Given the description of an element on the screen output the (x, y) to click on. 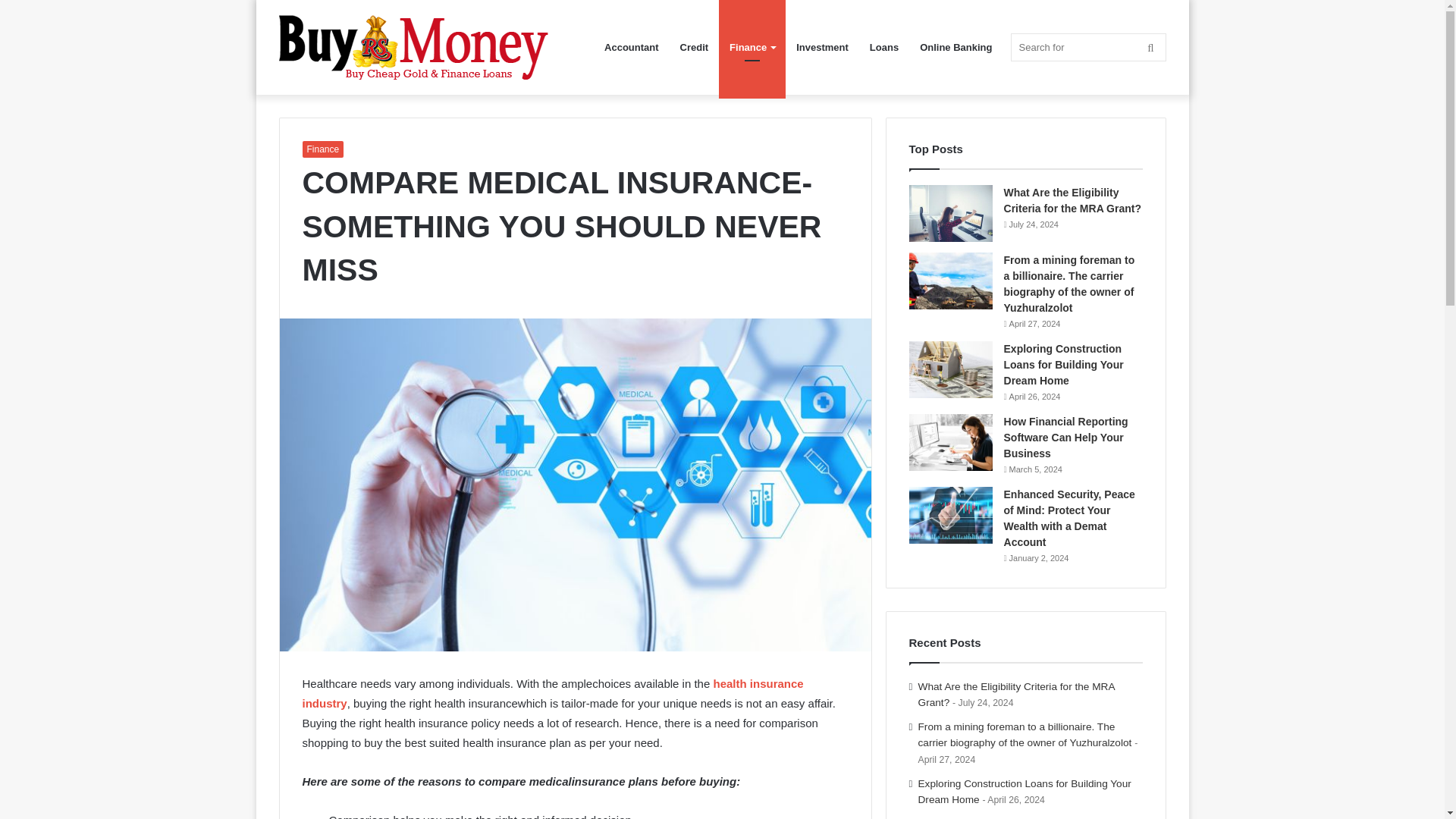
Finance (322, 149)
How Financial Reporting Software Can Help Your Business (1066, 437)
health insurance industry (552, 693)
Search for (1088, 47)
Buy Rs Money - Accounting Services Hiring Tips - Get Advice (413, 47)
What Are the Eligibility Criteria for the MRA Grant? (1016, 694)
